Given the description of an element on the screen output the (x, y) to click on. 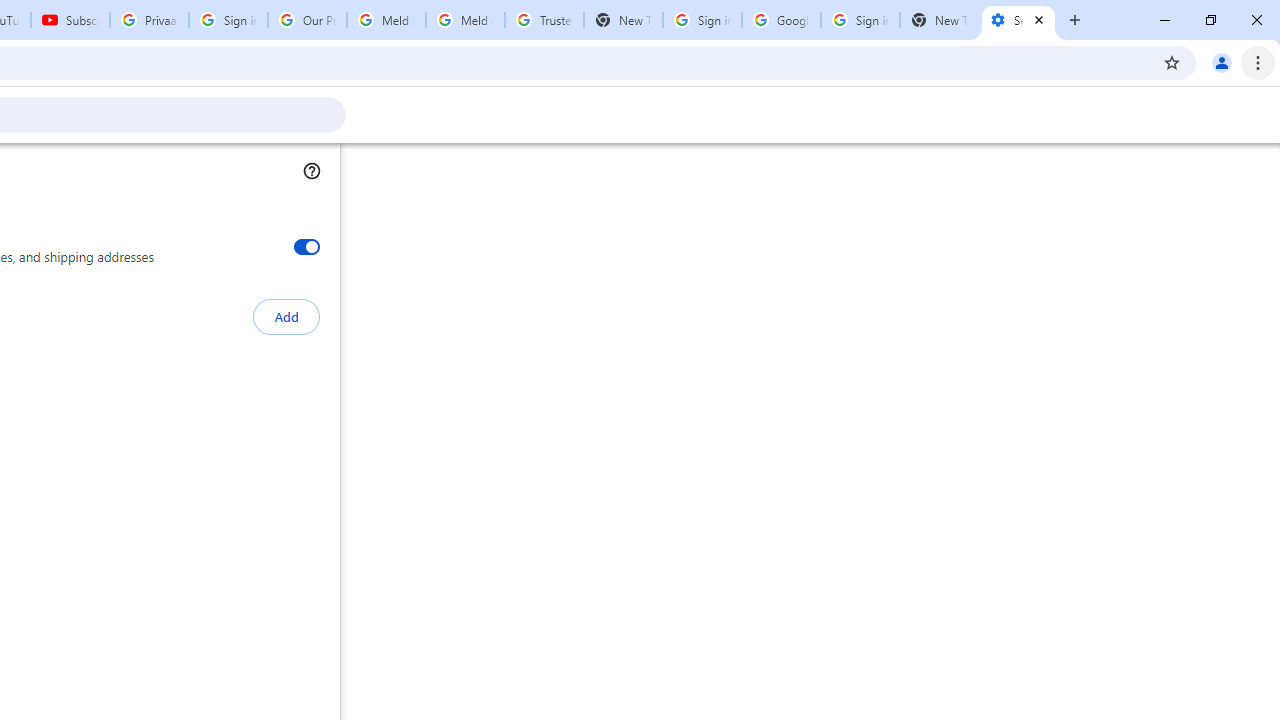
Google Cybersecurity Innovations - Google Safety Center (781, 20)
New Tab (939, 20)
